Given the description of an element on the screen output the (x, y) to click on. 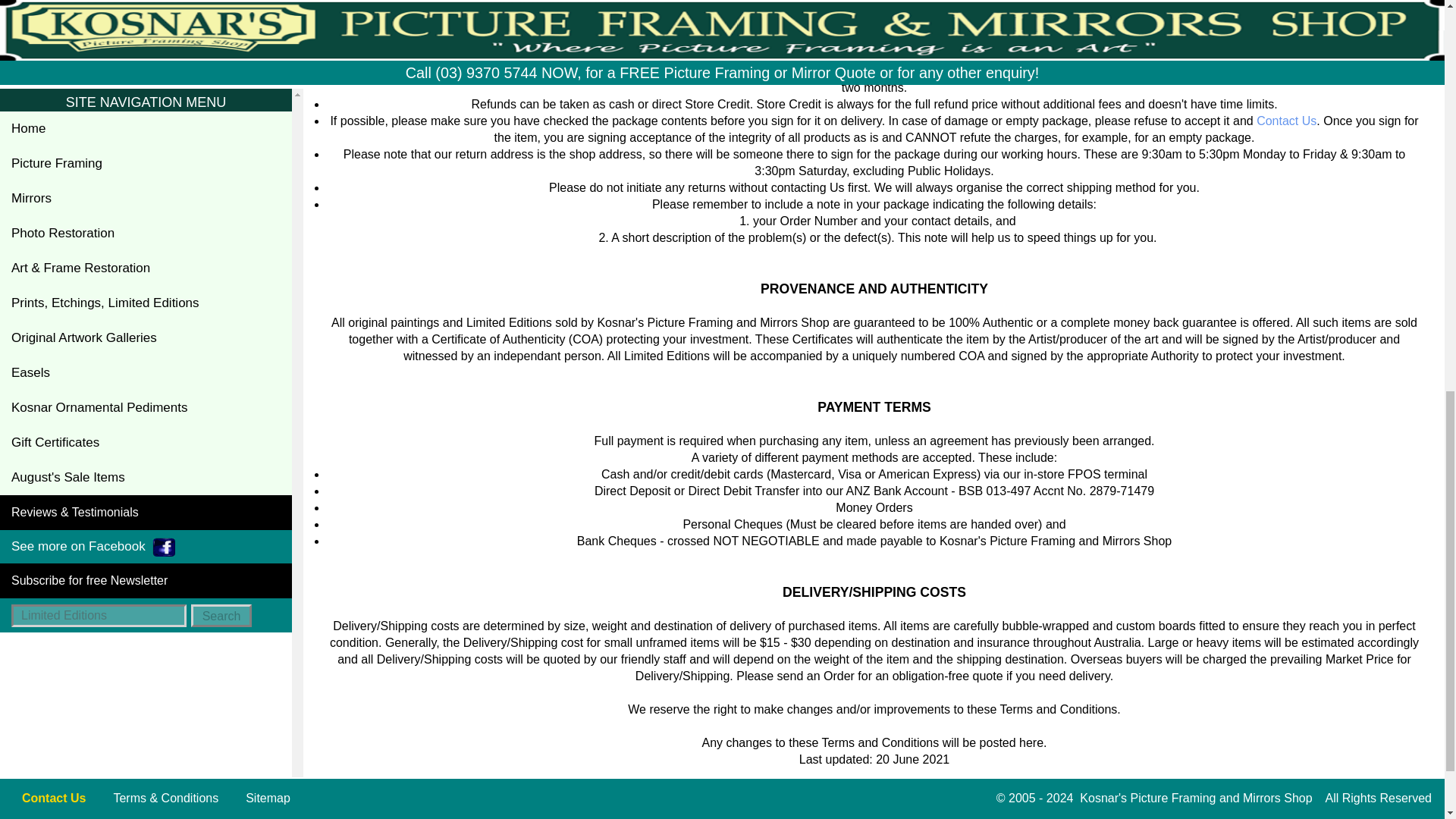
Don't be shy (1286, 120)
Back to top (874, 792)
Contact Us (1286, 120)
